Given the description of an element on the screen output the (x, y) to click on. 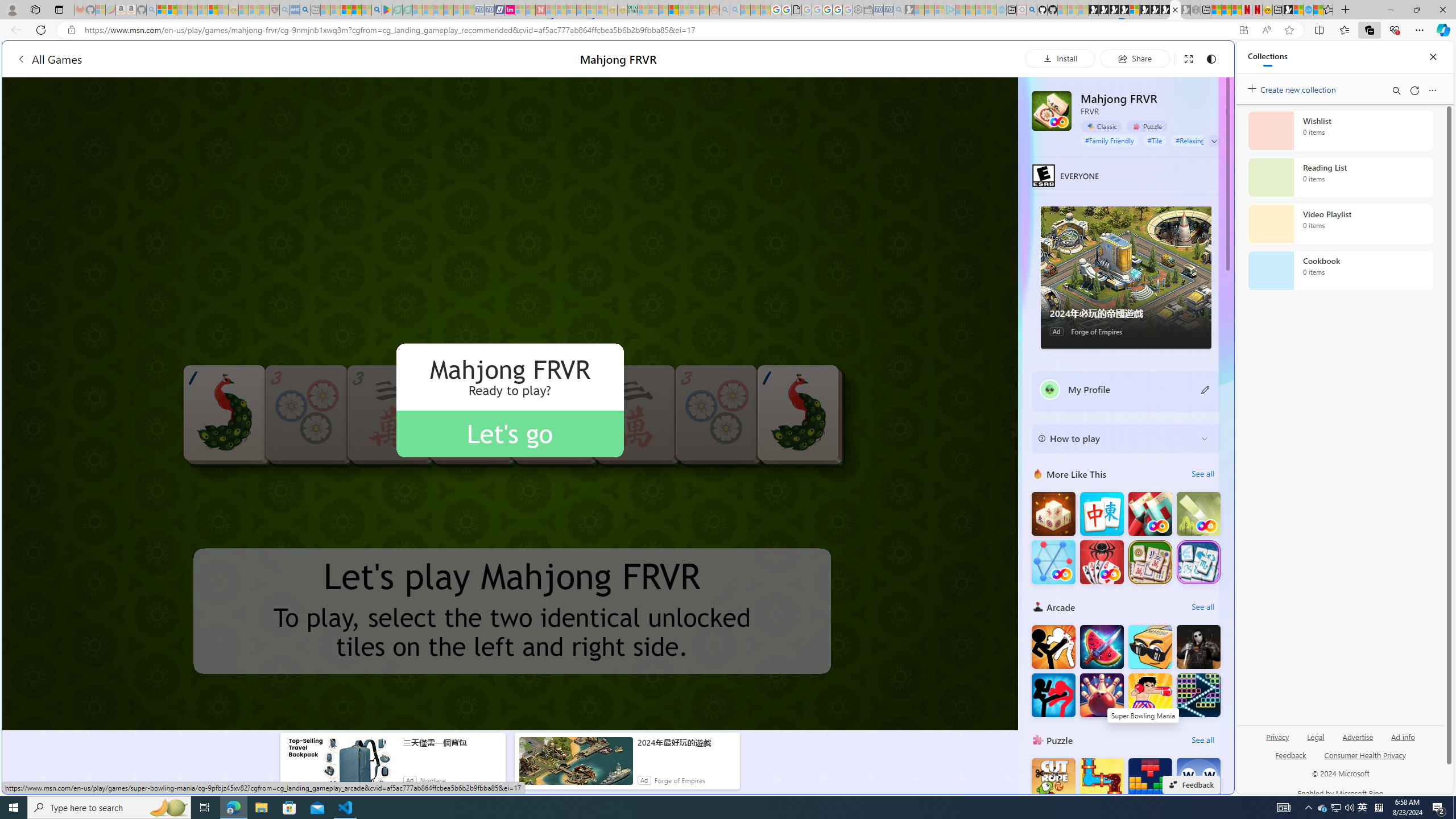
Arcade (1037, 606)
Jobs - lastminute.com Investor Portal (509, 9)
BlockBuster: Adventures Puzzle (1149, 779)
More options menu (1432, 90)
Boxing fighter : Super punch (1149, 694)
anim-content (576, 765)
Streak FRVR (1053, 562)
